Given the description of an element on the screen output the (x, y) to click on. 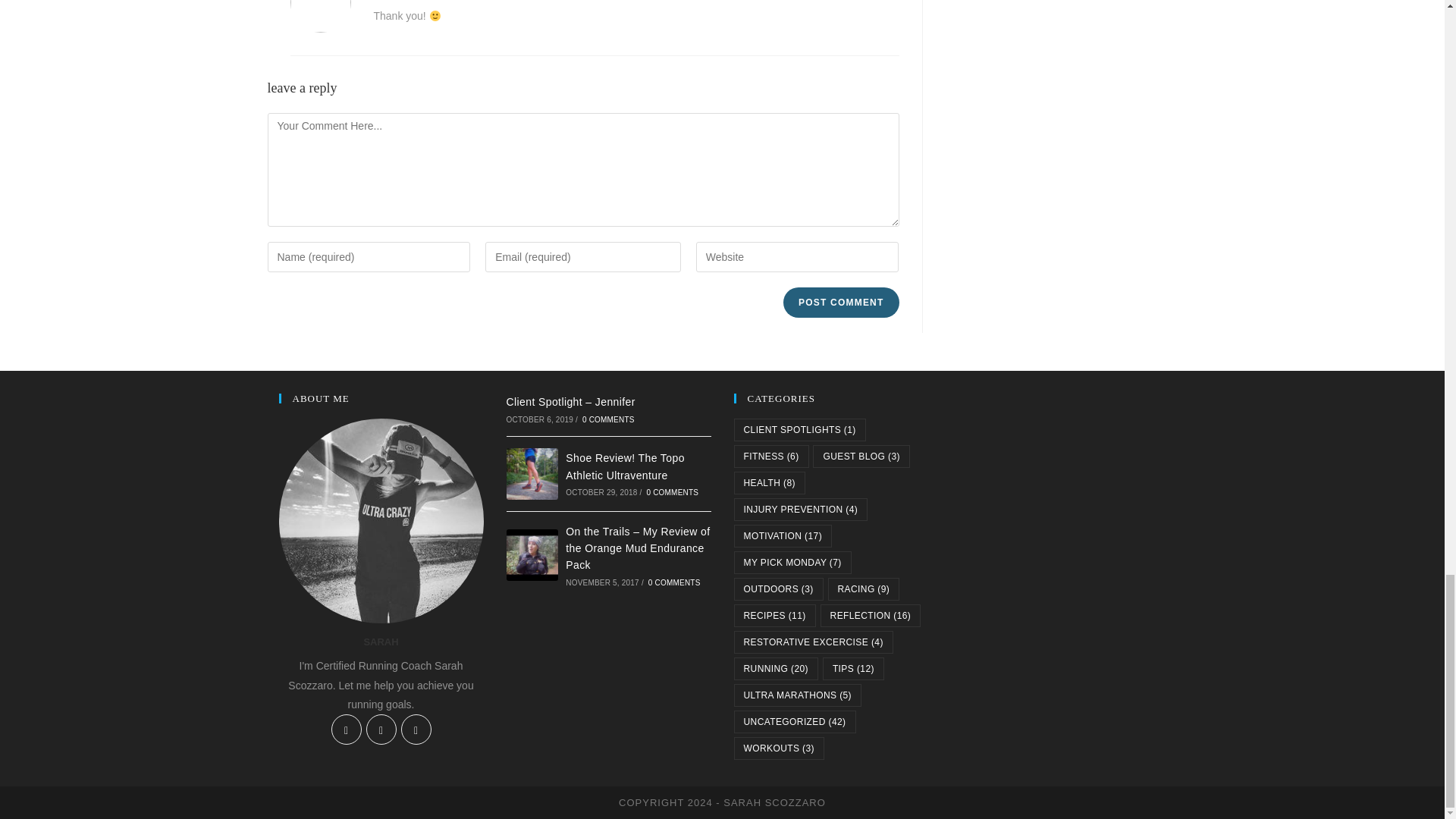
Post Comment (840, 302)
Shoe Review! The Topo Athletic Ultraventure (625, 466)
Post Comment (840, 302)
Shoe Review! The Topo Athletic Ultraventure (531, 473)
